Given the description of an element on the screen output the (x, y) to click on. 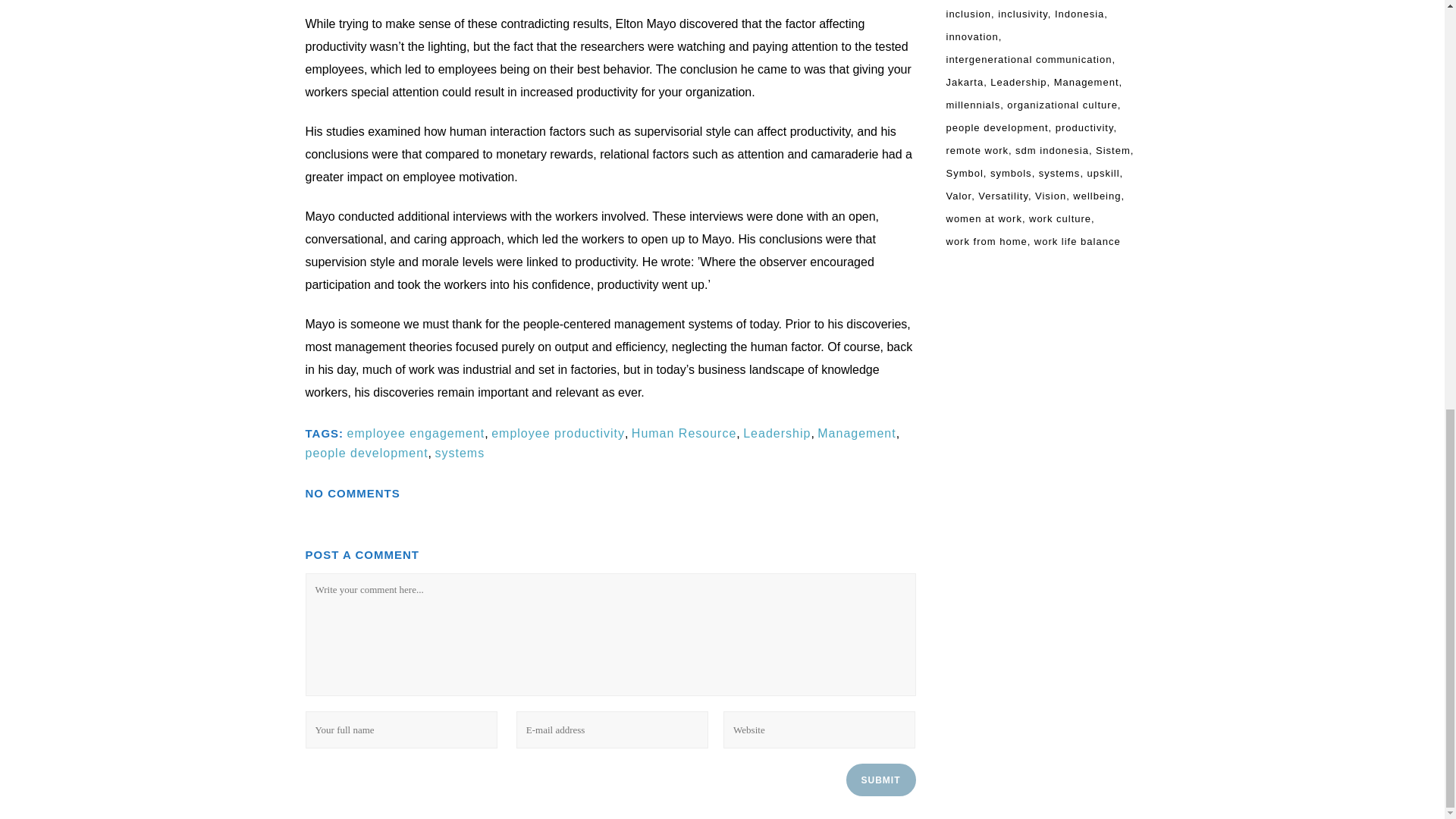
Submit (880, 779)
